Given the description of an element on the screen output the (x, y) to click on. 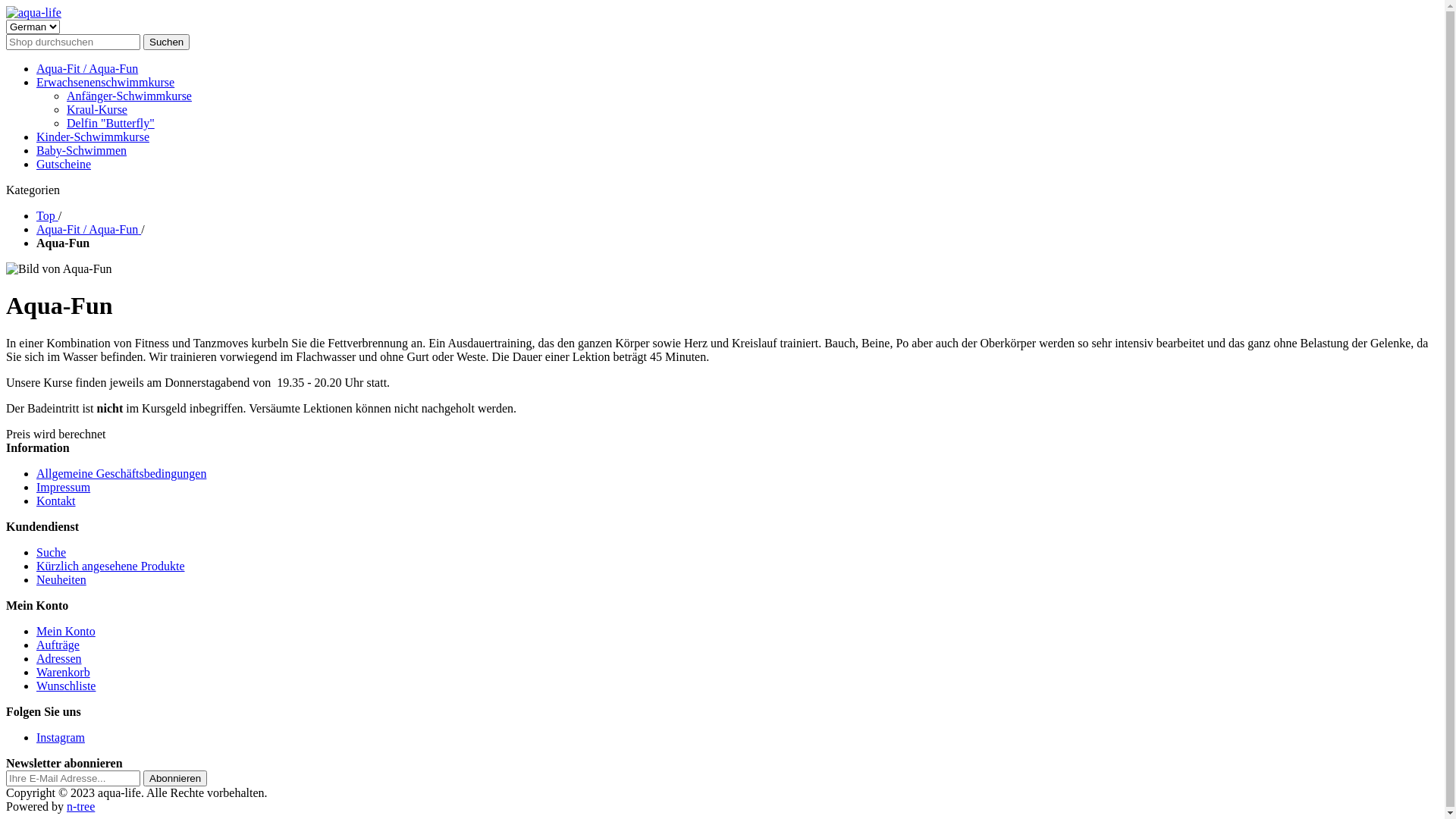
Aqua-Fit / Aqua-Fun Element type: text (88, 228)
Aqua-Fit / Aqua-Fun Element type: text (87, 68)
n-tree Element type: text (80, 806)
Suchen Element type: text (166, 42)
Gutscheine Element type: text (63, 163)
Neuheiten Element type: text (61, 579)
Instagram Element type: text (60, 737)
Delfin "Butterfly" Element type: text (110, 122)
aqua-life Element type: hover (33, 12)
Wunschliste Element type: text (65, 685)
Mein Konto Element type: text (65, 630)
Top Element type: text (47, 215)
Bild von Aqua-Fun Element type: hover (59, 269)
Impressum Element type: text (63, 486)
Kinder-Schwimmkurse Element type: text (92, 136)
Erwachsenenschwimmkurse Element type: text (105, 81)
Kontakt Element type: text (55, 500)
Suche Element type: text (50, 552)
Kraul-Kurse Element type: text (96, 109)
Baby-Schwimmen Element type: text (81, 150)
Warenkorb Element type: text (63, 671)
Adressen Element type: text (58, 658)
